Given the description of an element on the screen output the (x, y) to click on. 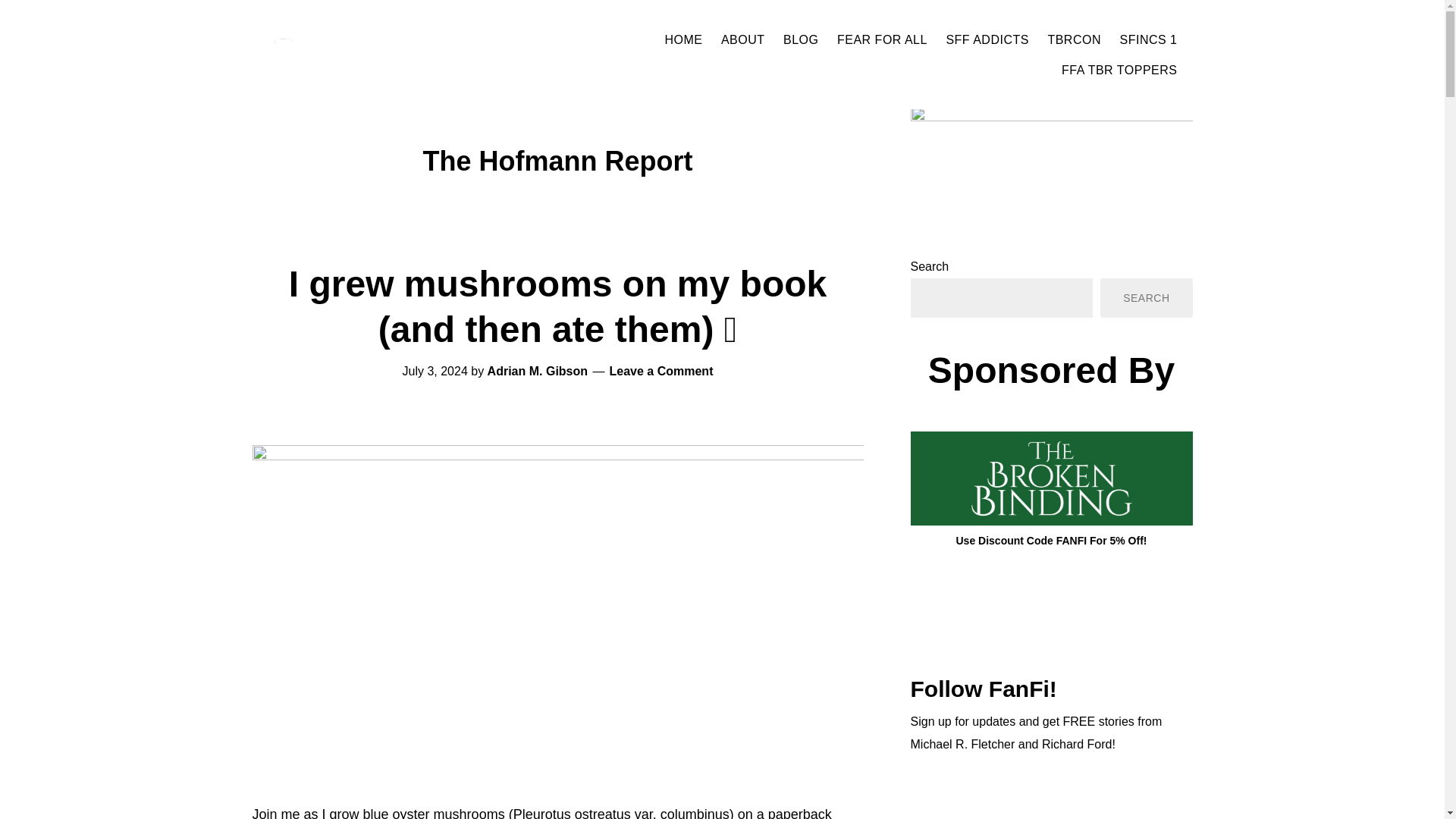
HOME (683, 39)
BLOG (800, 39)
ABOUT (743, 39)
